Given the description of an element on the screen output the (x, y) to click on. 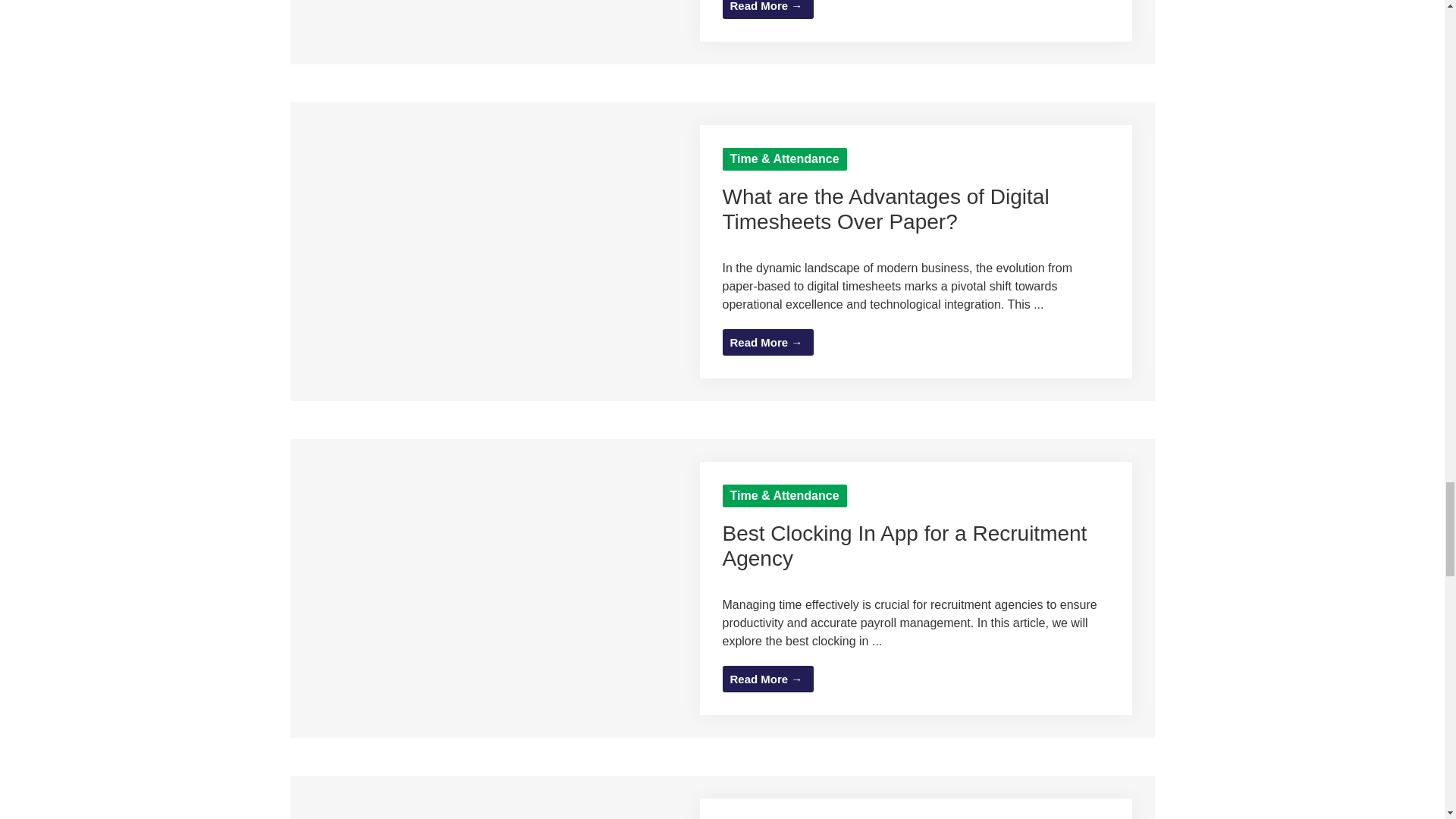
Best Clocking In App for a Recruitment Agency (505, 660)
What are the Advantages of Digital Timesheets Over Paper? (505, 323)
